Given the description of an element on the screen output the (x, y) to click on. 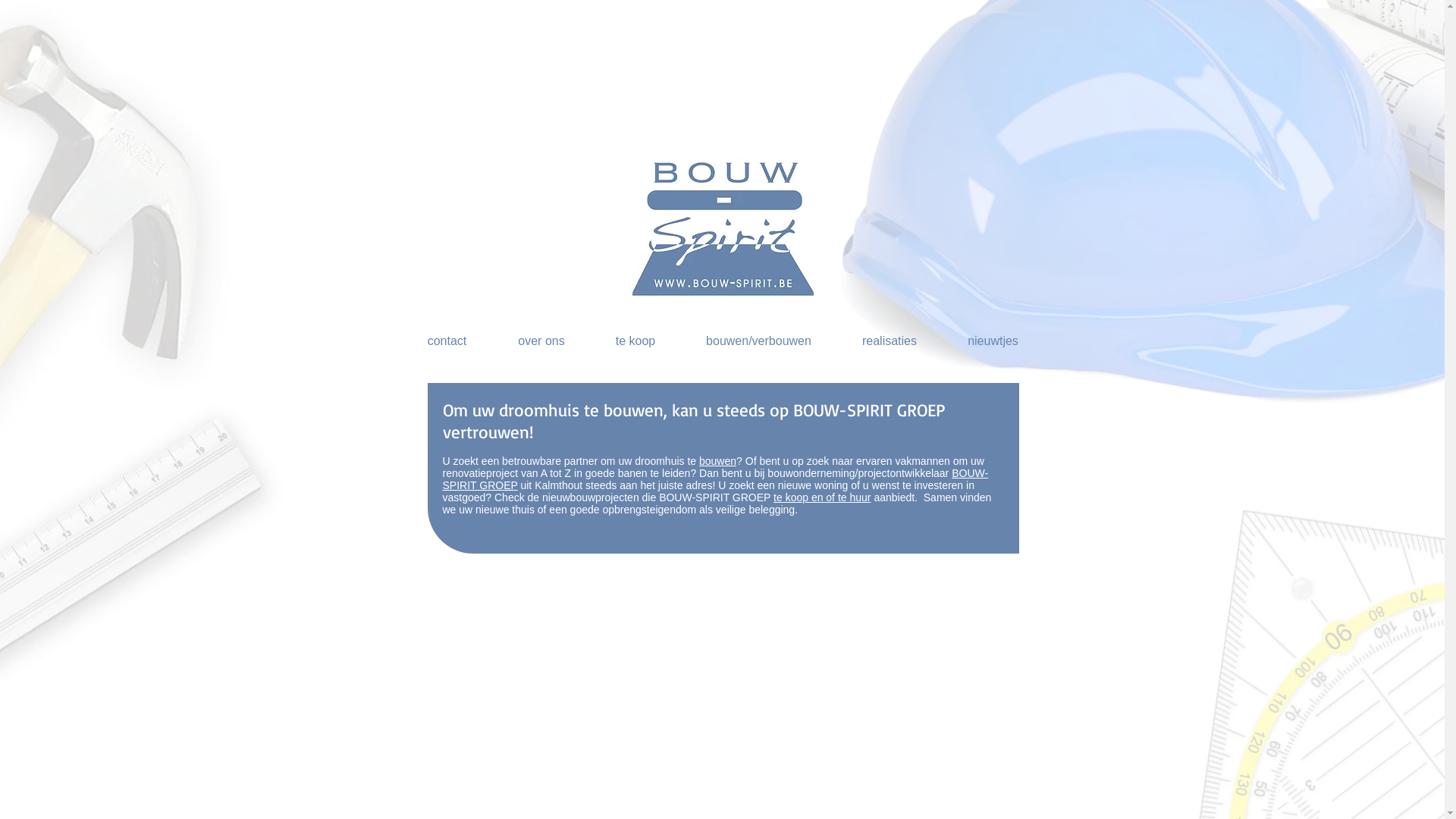
nieuwtjes Element type: text (992, 341)
BOUW-SPIRIT GROEP Element type: text (715, 479)
over ons Element type: text (541, 341)
contact Element type: text (446, 341)
te koop en of te huur Element type: text (821, 497)
bouwen Element type: text (717, 461)
te koop Element type: text (634, 341)
realisaties Element type: text (889, 341)
bouwen/verbouwen Element type: text (758, 341)
logo Bouw-Spirit.jpg Element type: hover (722, 231)
